Given the description of an element on the screen output the (x, y) to click on. 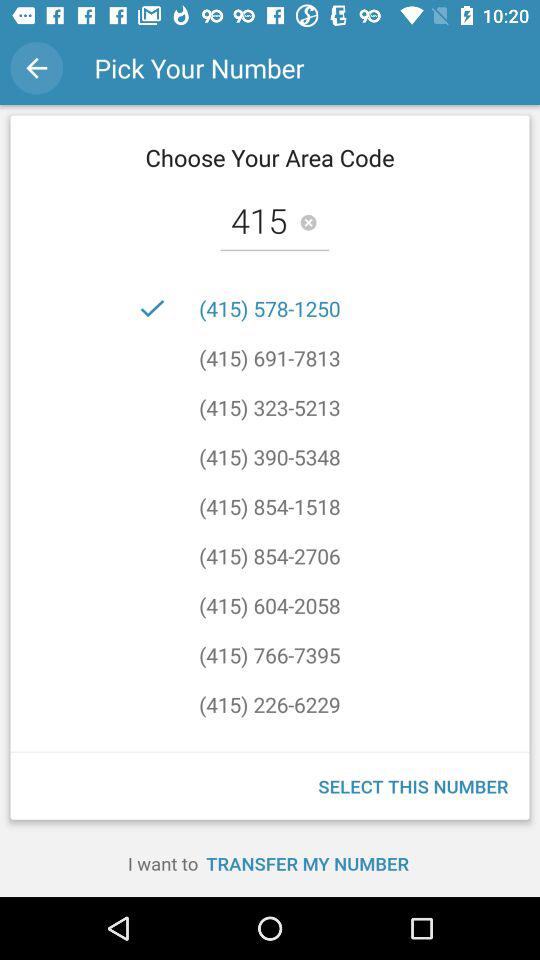
press icon next to the i want to icon (307, 863)
